Given the description of an element on the screen output the (x, y) to click on. 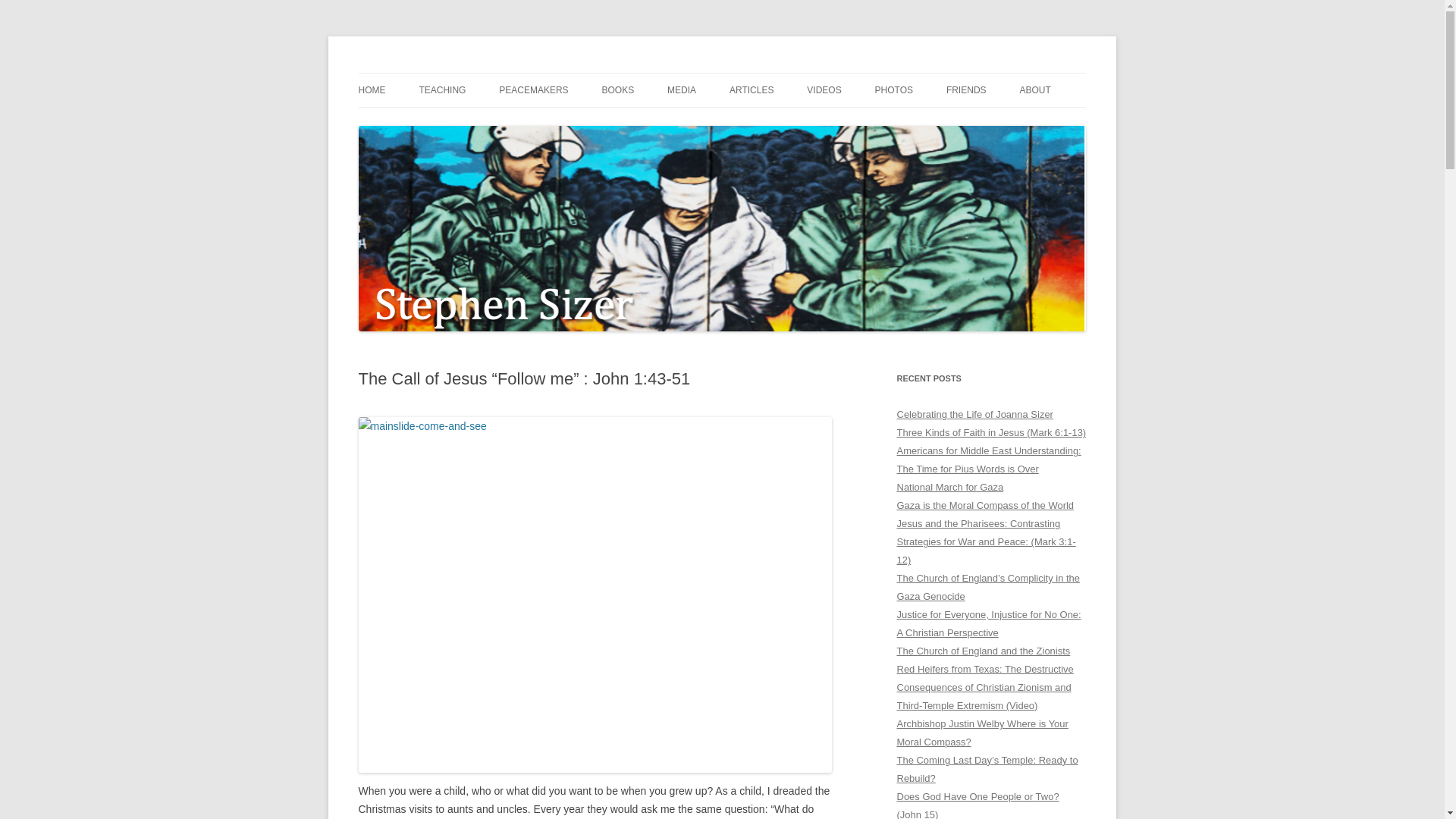
PEACEMAKERS (533, 90)
Gaza is the Moral Compass of the World (985, 505)
Archbishop Justin Welby Where is Your Moral Compass? (981, 732)
The Church of England and the Zionists (983, 650)
Celebrating the Life of Joanna Sizer (974, 414)
VIDEOS (823, 90)
TEACHING (442, 90)
Stephen Sizer (422, 72)
HOME (371, 90)
ABOUT (1034, 90)
MEDIA (680, 90)
